Given the description of an element on the screen output the (x, y) to click on. 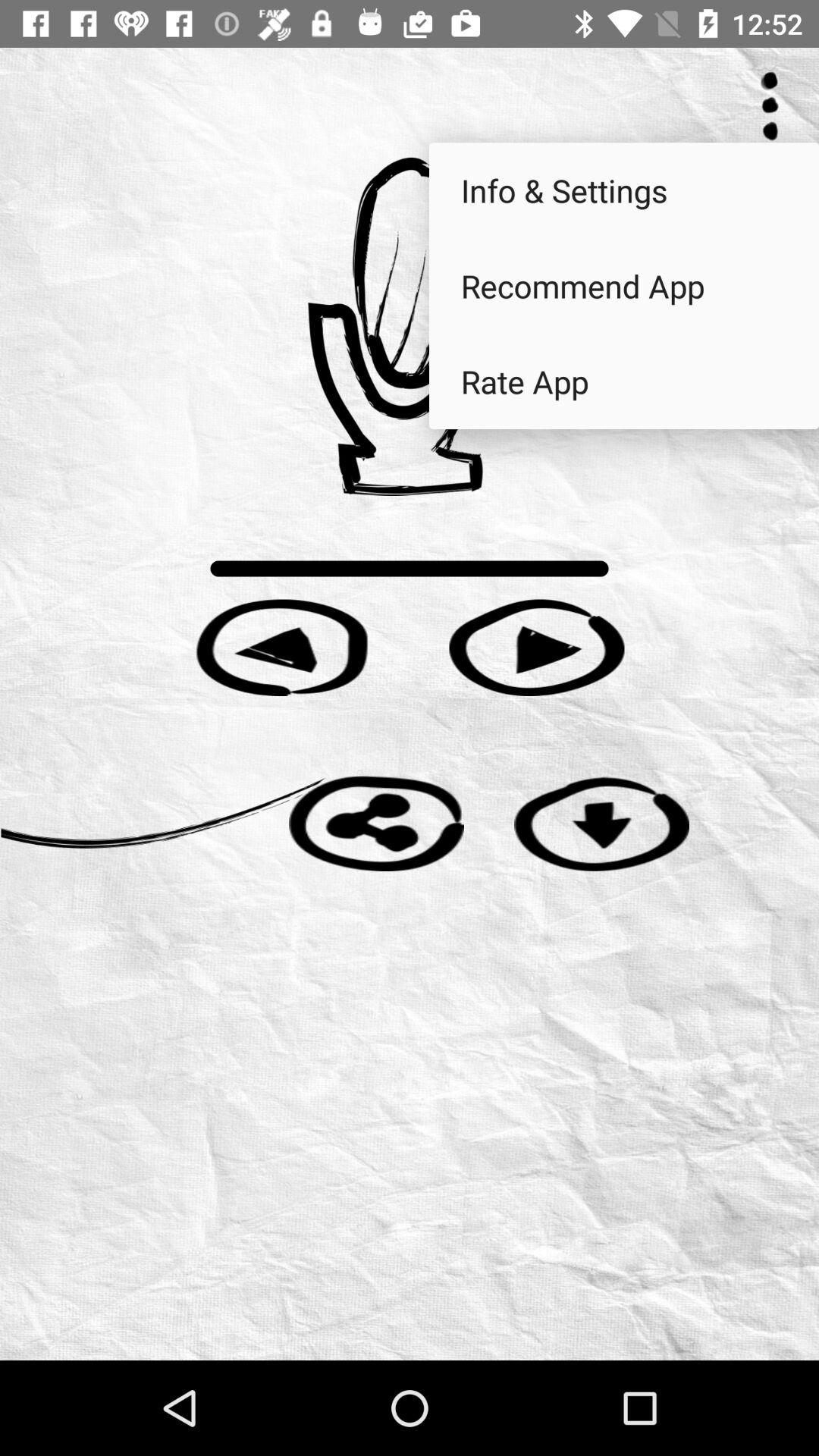
toggle play (536, 647)
